Given the description of an element on the screen output the (x, y) to click on. 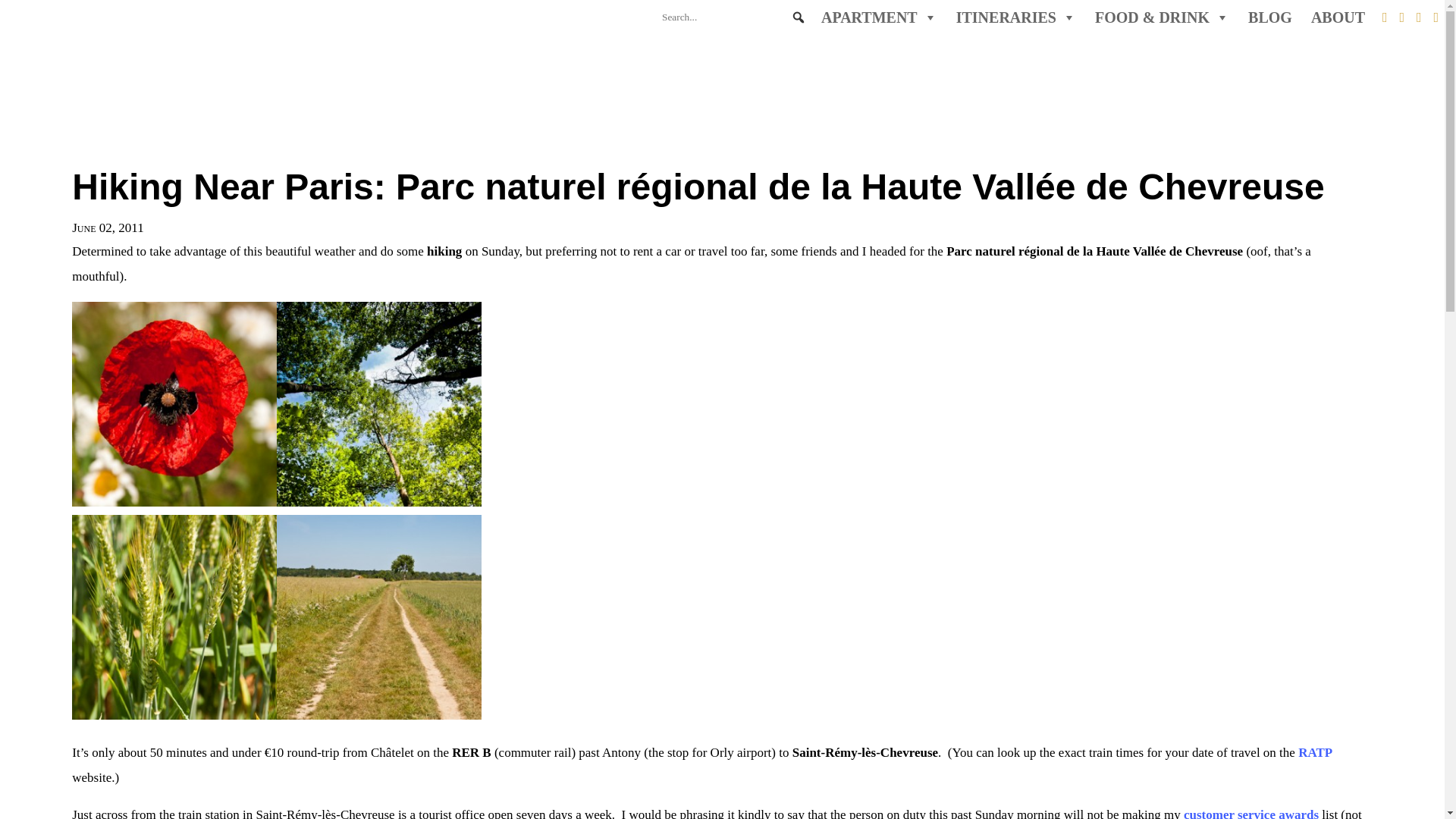
customer service awards (1251, 813)
Customer Service Awards (1251, 813)
Chevreuse-4 (173, 617)
RATP (1315, 752)
Search (19, 8)
Chevreuse-2 (173, 404)
BLOG (1270, 17)
Chevreuse-5 (378, 404)
ITINERARIES (1016, 17)
ABOUT (1338, 17)
